Given the description of an element on the screen output the (x, y) to click on. 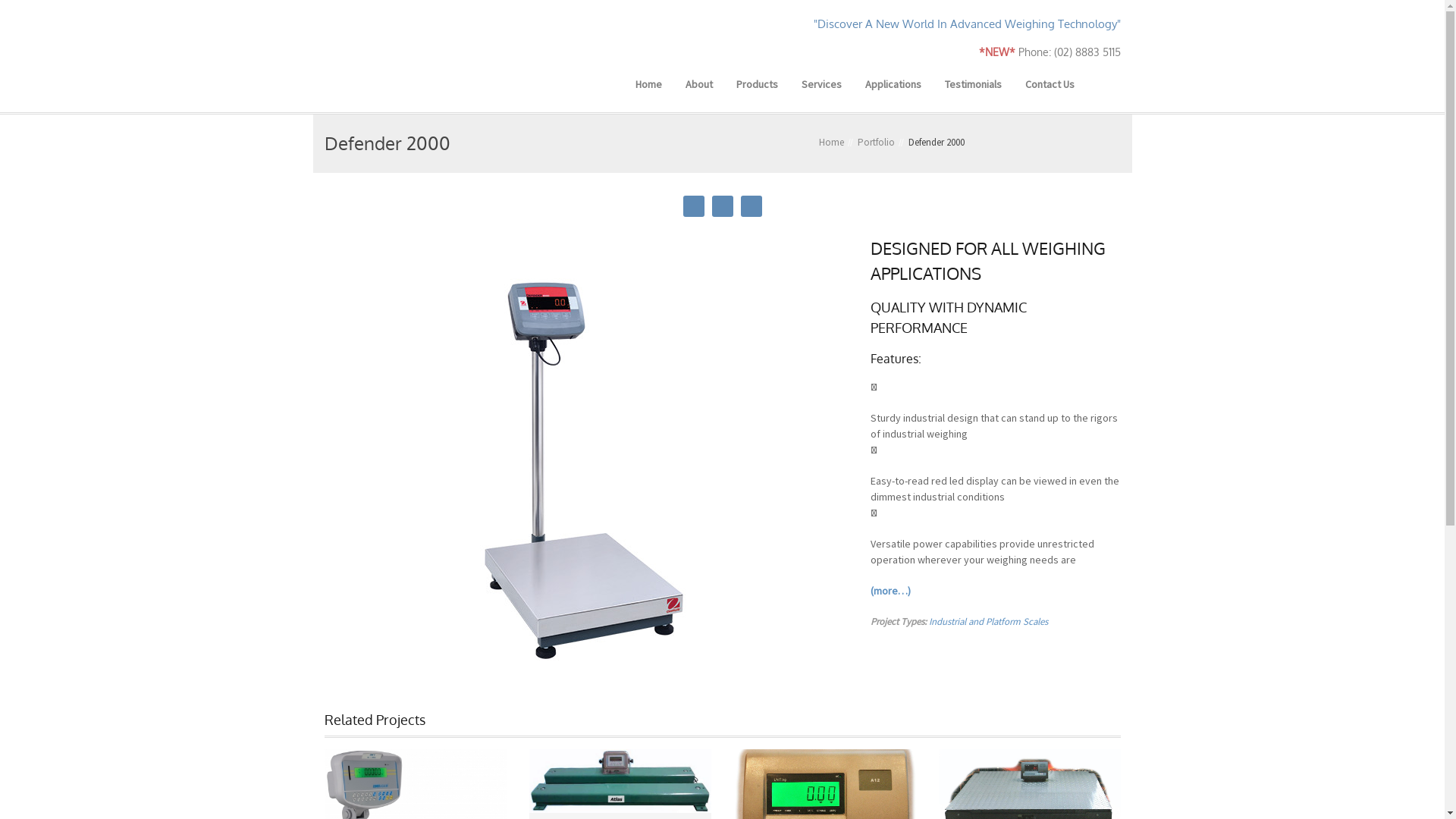
Industrial and Platform Scales Element type: text (987, 621)
Portfolio Element type: text (875, 141)
Products Element type: text (756, 84)
About Element type: text (698, 84)
Search Element type: text (64, 10)
Home Element type: text (831, 141)
Hills Scale Services Pty Ltd Element type: text (429, 57)
Testimonials Element type: text (972, 84)
Home Element type: text (647, 84)
Services Element type: text (821, 84)
Back to portfolio Element type: text (721, 205)
Contact Us Element type: text (1049, 84)
Applications Element type: text (892, 84)
